Given the description of an element on the screen output the (x, y) to click on. 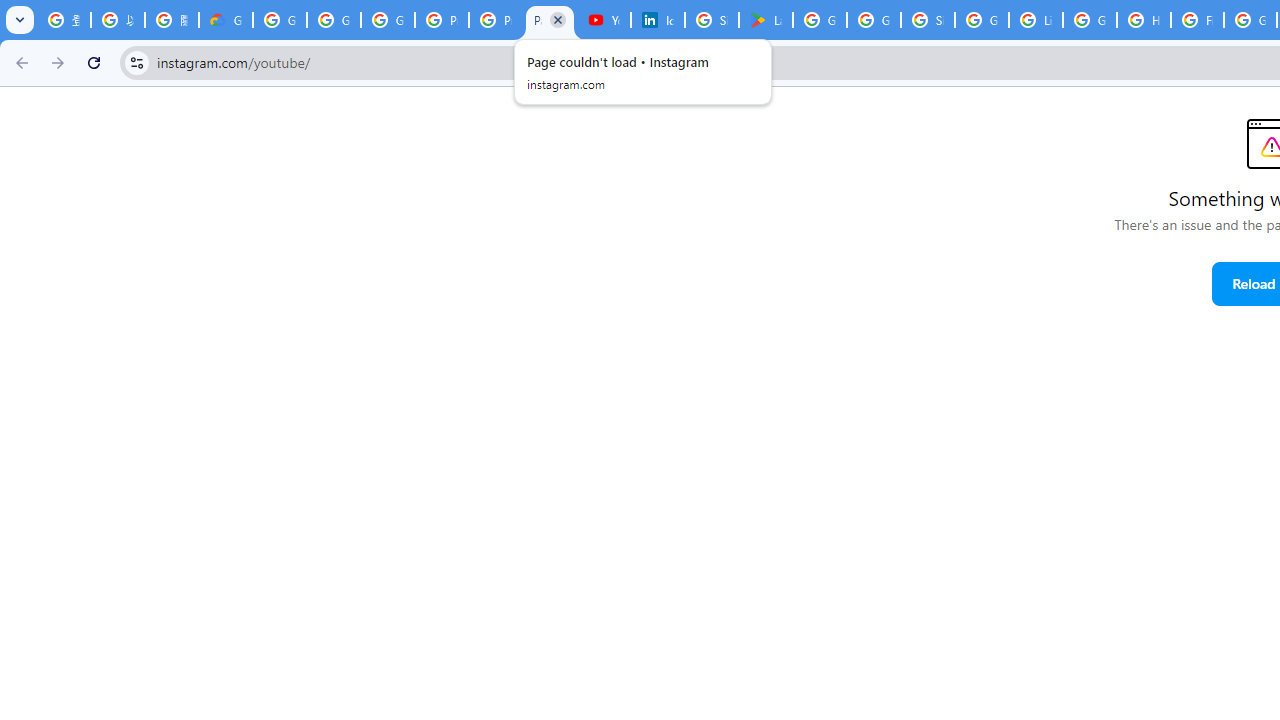
Sign in - Google Accounts (927, 20)
Privacy Help Center - Policies Help (495, 20)
Sign in - Google Accounts (711, 20)
Google Workspace - Specific Terms (874, 20)
